Given the description of an element on the screen output the (x, y) to click on. 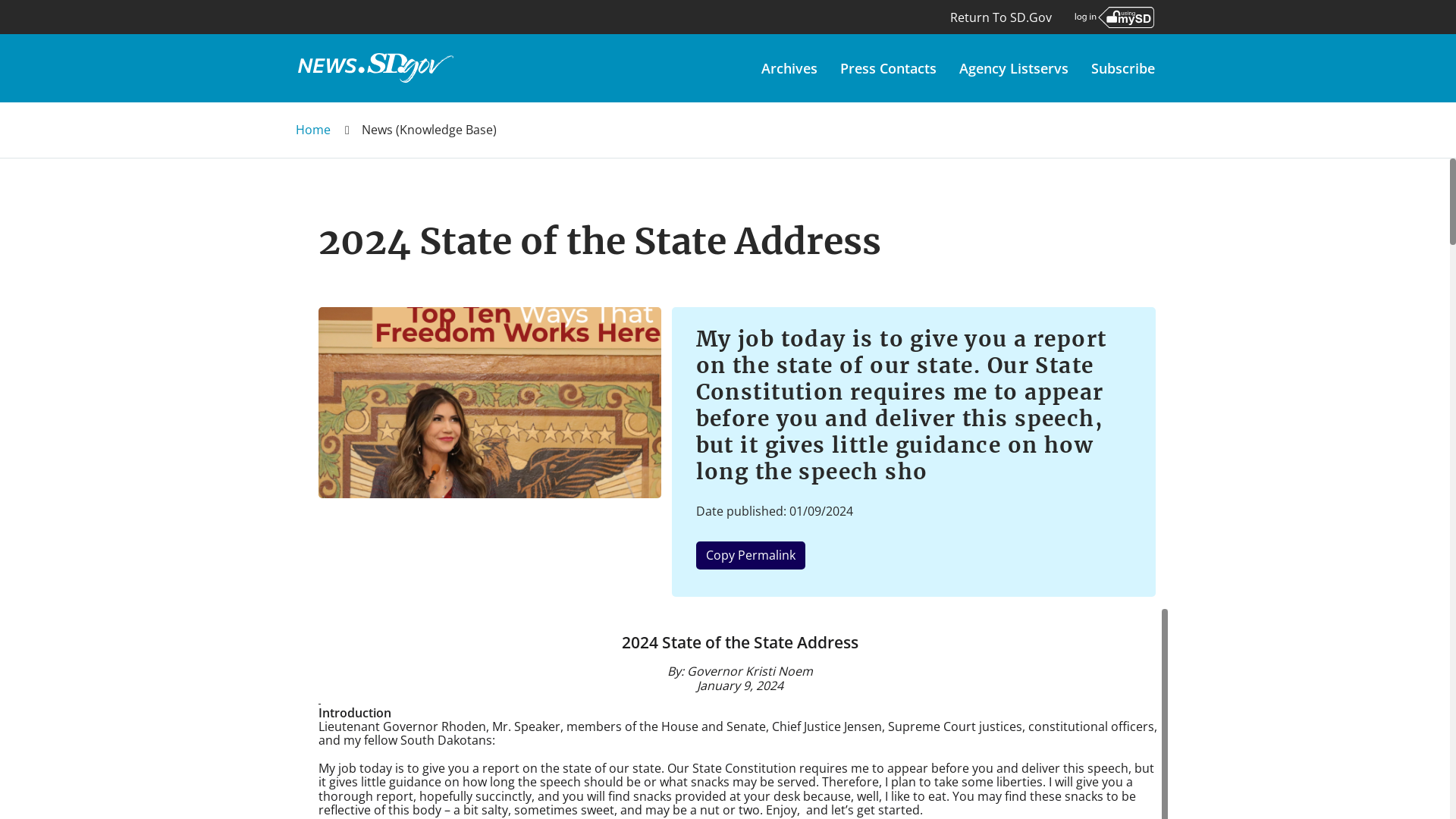
Home (312, 129)
ServiceNow (374, 68)
Press Contacts (887, 68)
Return To SD.Gov (1000, 25)
Agency Listservs (1013, 68)
Copy Permalink (750, 555)
Archives (788, 68)
Subscribe (1123, 68)
